Given the description of an element on the screen output the (x, y) to click on. 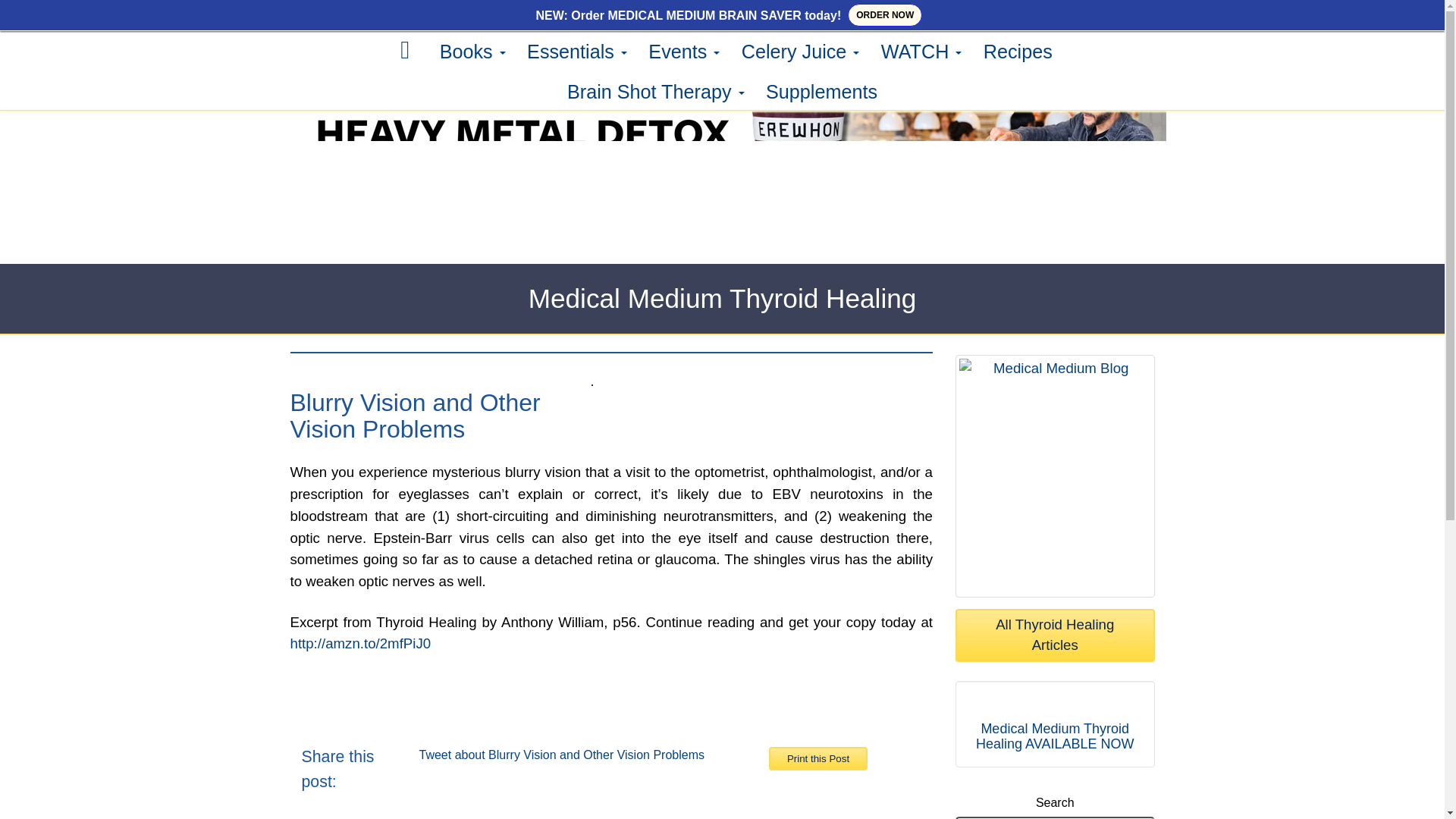
ORDER NOW (884, 15)
Celery Juice (800, 51)
Books (472, 51)
Events (684, 51)
Essentials (577, 51)
